Given the description of an element on the screen output the (x, y) to click on. 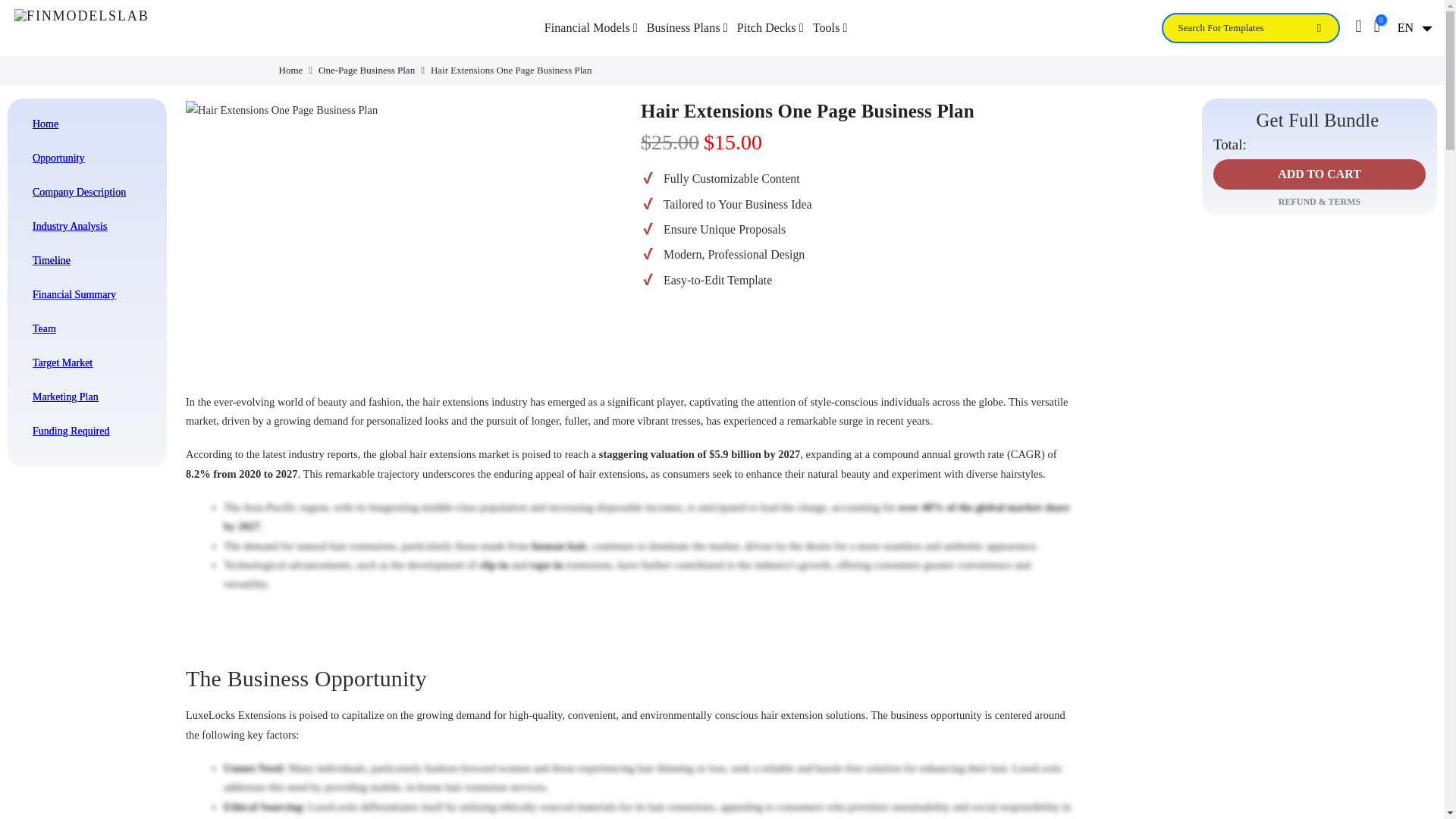
Target Market (90, 362)
Home (90, 123)
Timeline (90, 259)
Financial Models (591, 27)
Pitch Decks (770, 27)
Opportunity (90, 157)
Financial Summary (90, 294)
Business Plans (687, 27)
Home (290, 70)
Tools (829, 27)
